Given the description of an element on the screen output the (x, y) to click on. 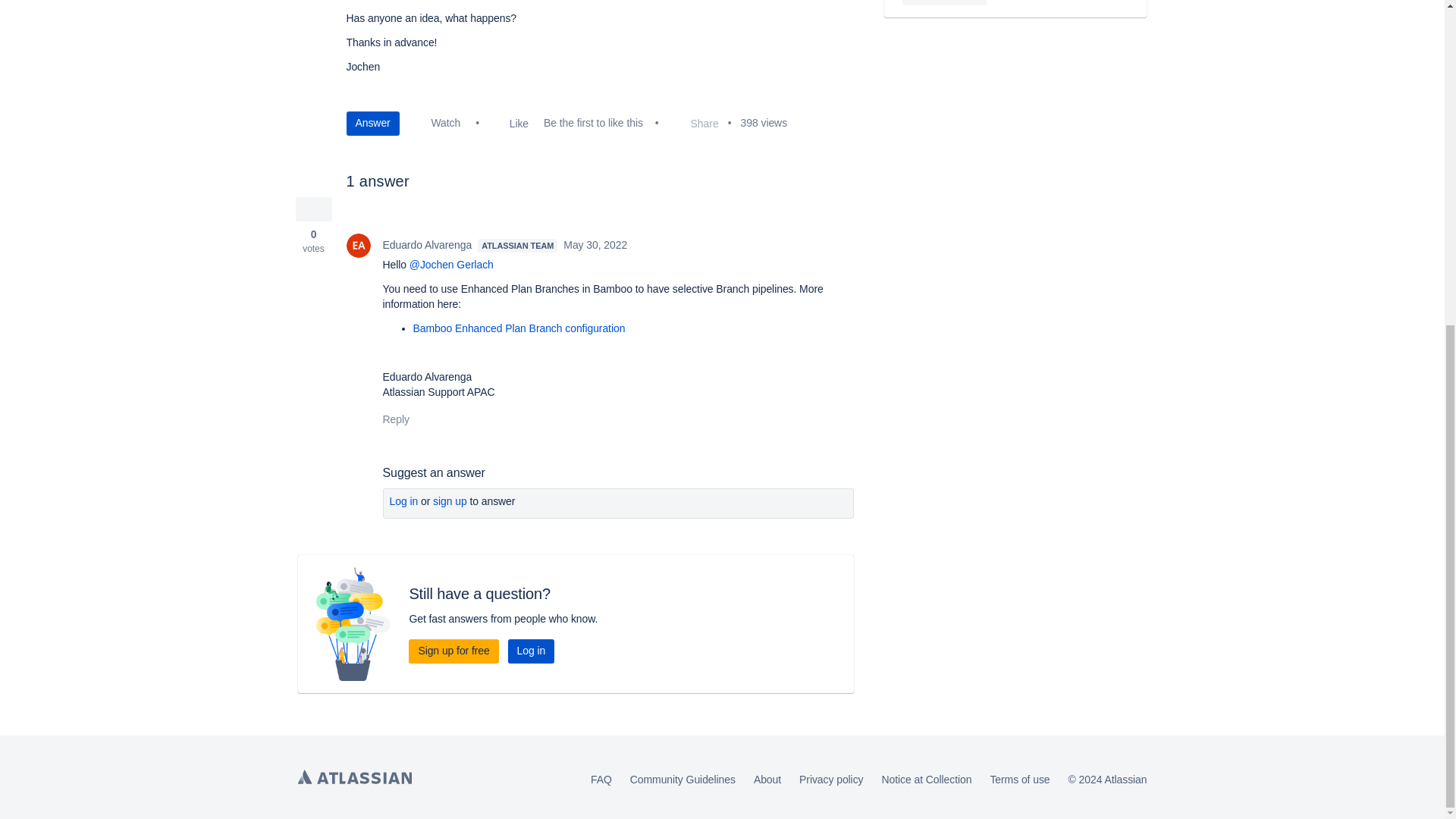
Eduardo Alvarenga (357, 245)
